Given the description of an element on the screen output the (x, y) to click on. 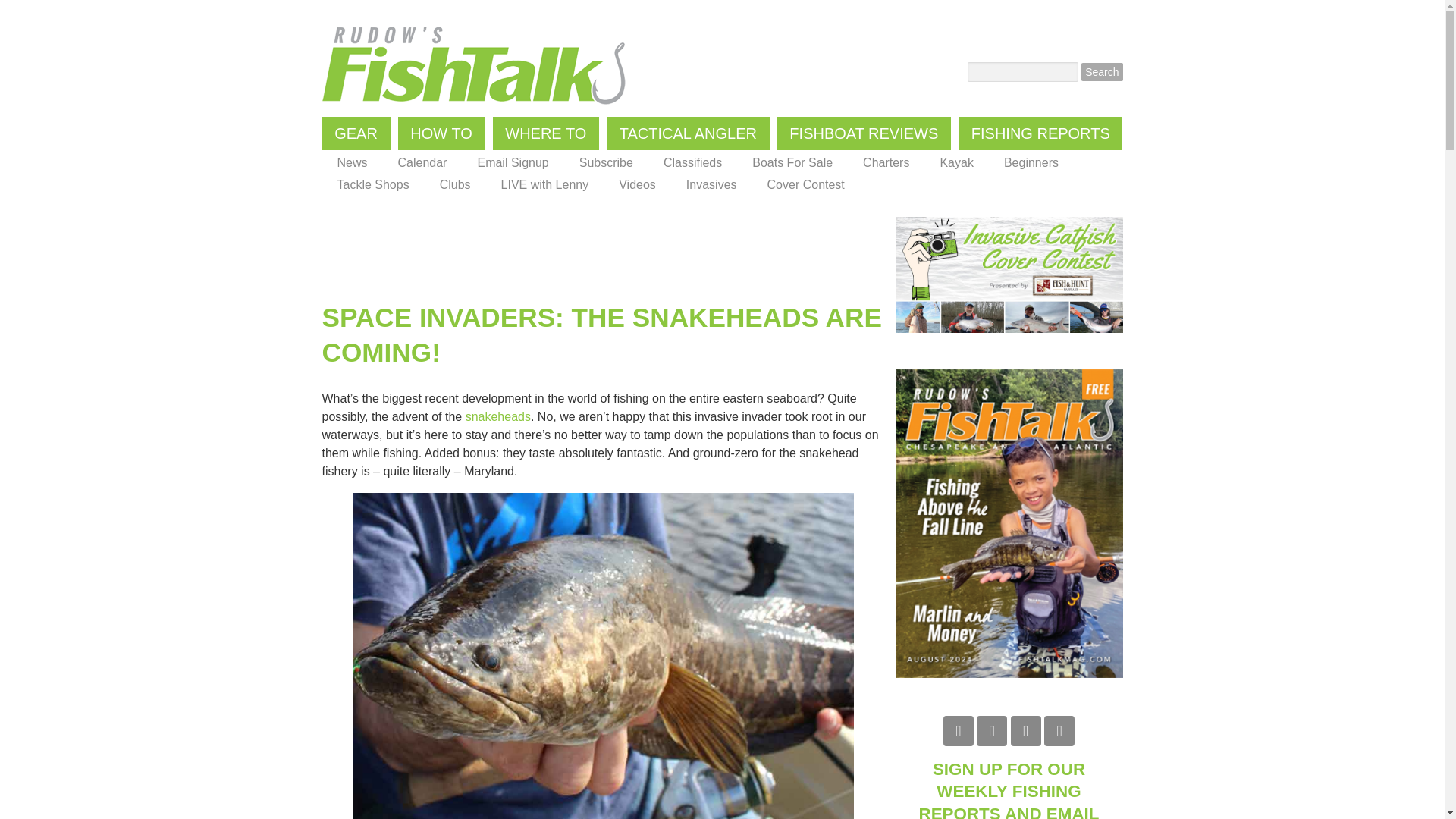
GEAR (355, 133)
HOW TO (440, 133)
Search (1101, 72)
Videos (637, 185)
FISHING REPORTS (1040, 133)
Kayak (955, 162)
News (351, 162)
Email Signup (512, 162)
Clubs (454, 185)
Beginners (1031, 162)
Charters (885, 162)
TACTICAL ANGLER (688, 133)
snakeheads (498, 416)
